Given the description of an element on the screen output the (x, y) to click on. 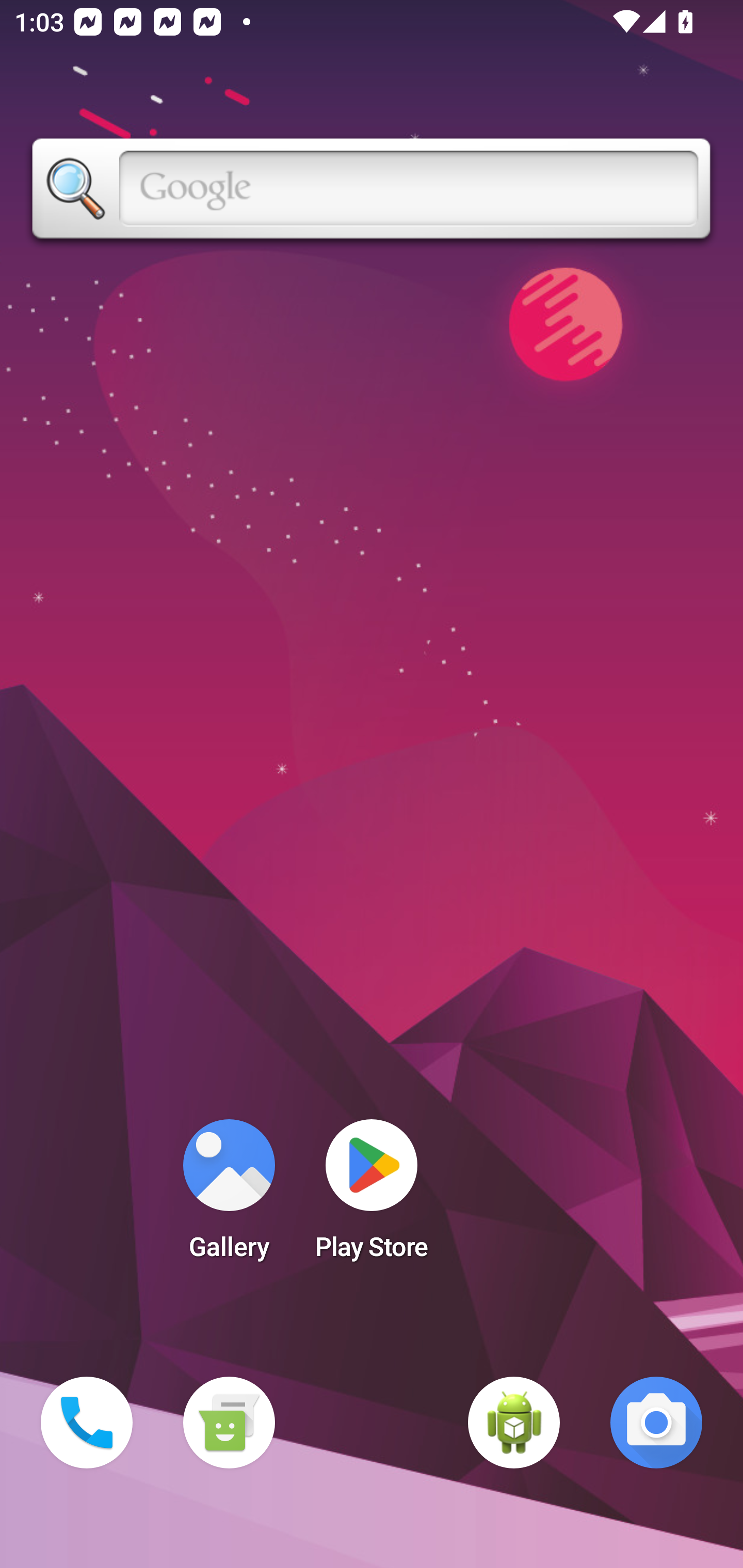
Gallery (228, 1195)
Play Store (371, 1195)
Phone (86, 1422)
Messaging (228, 1422)
WebView Browser Tester (513, 1422)
Camera (656, 1422)
